Given the description of an element on the screen output the (x, y) to click on. 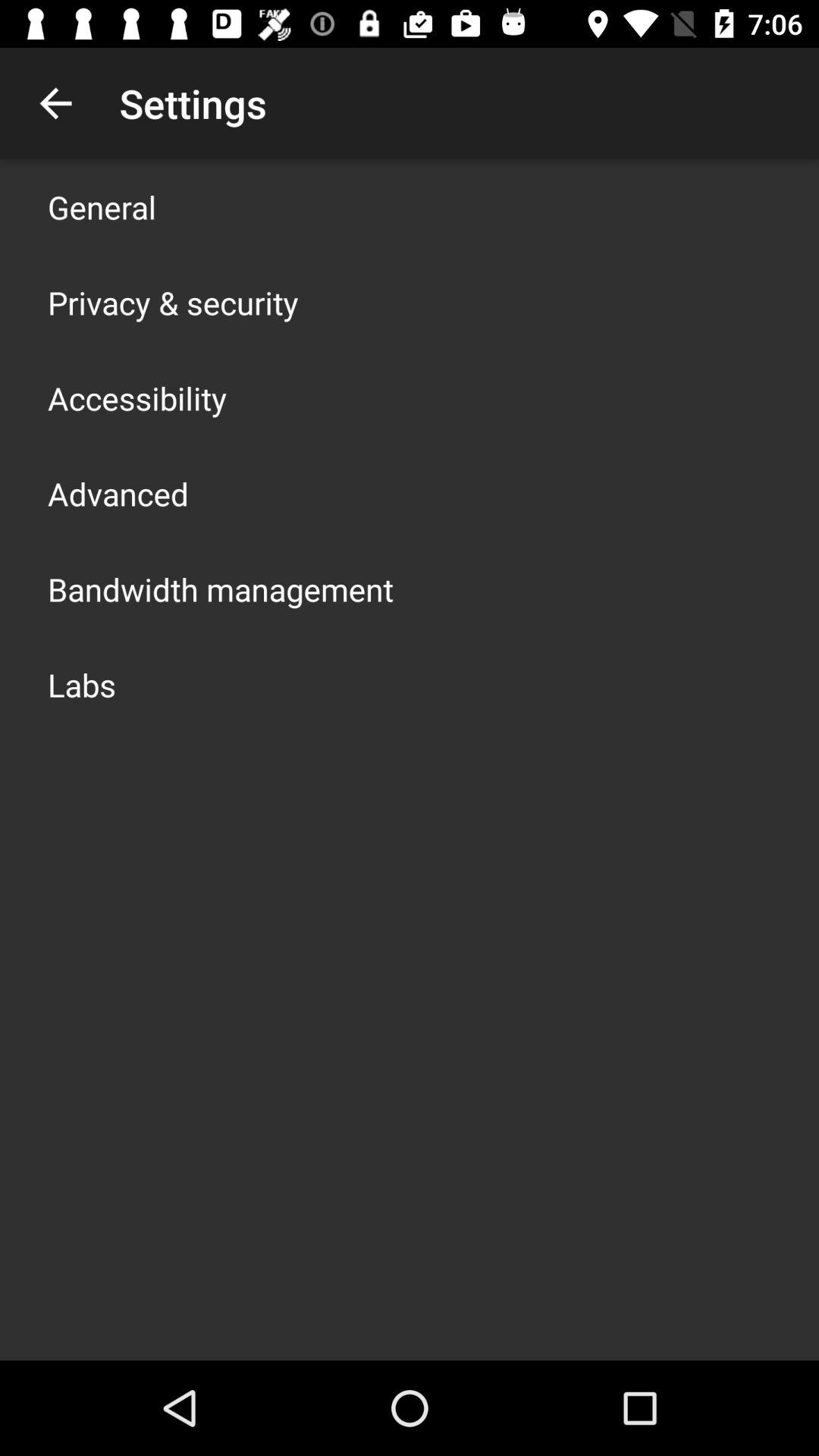
turn on app above the privacy & security item (101, 206)
